Given the description of an element on the screen output the (x, y) to click on. 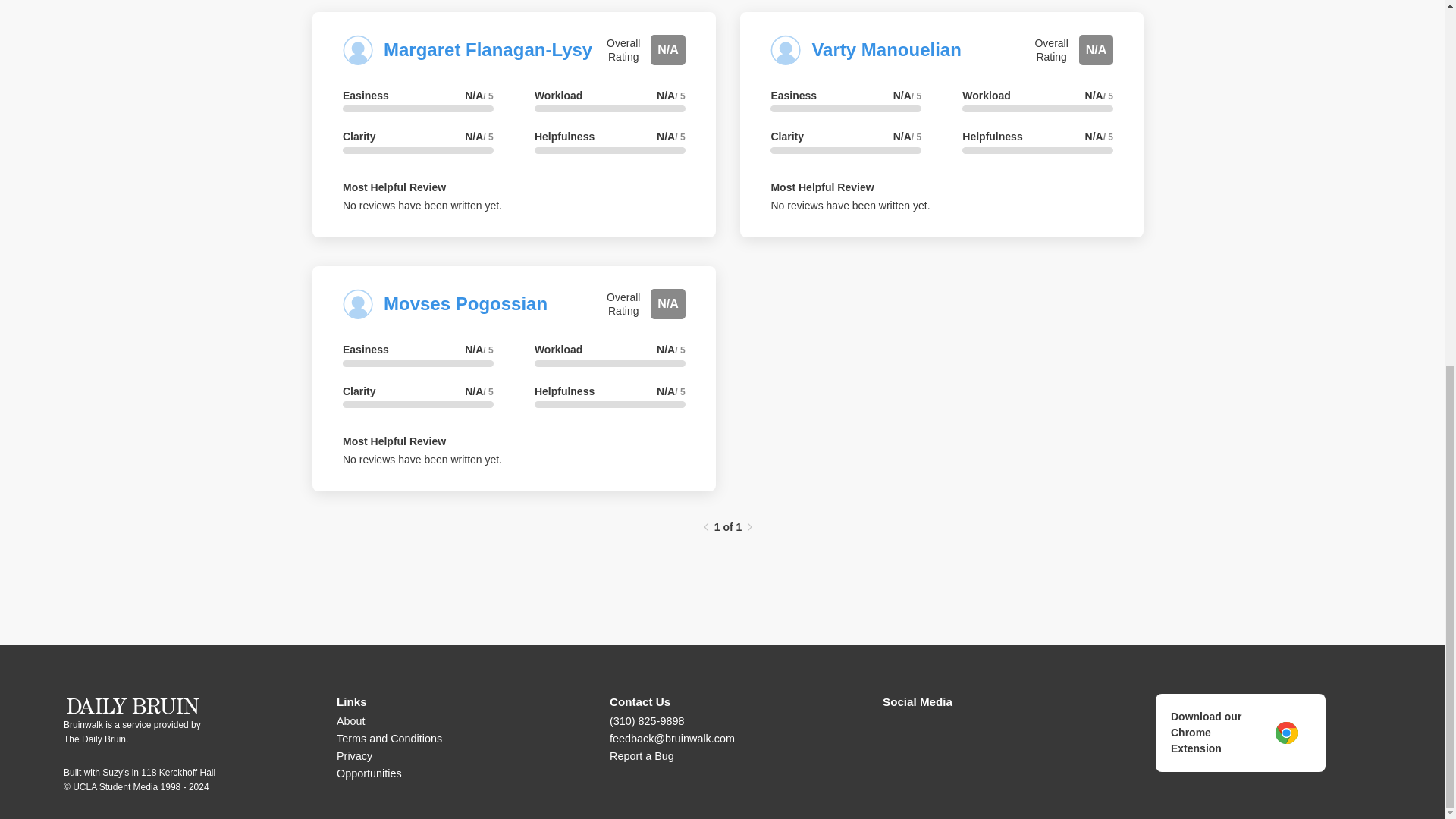
Opportunities (368, 773)
No reviews have been written yet. (850, 205)
Varty Manouelian (885, 49)
No reviews have been written yet. (422, 205)
Most Helpful Review (821, 186)
Most Helpful Review (393, 186)
Most Helpful Review (393, 440)
No reviews have been written yet. (422, 459)
About (350, 720)
Margaret Flanagan-Lysy (488, 49)
Terms and Conditions (389, 738)
Privacy (354, 756)
Movses Pogossian (465, 303)
